Given the description of an element on the screen output the (x, y) to click on. 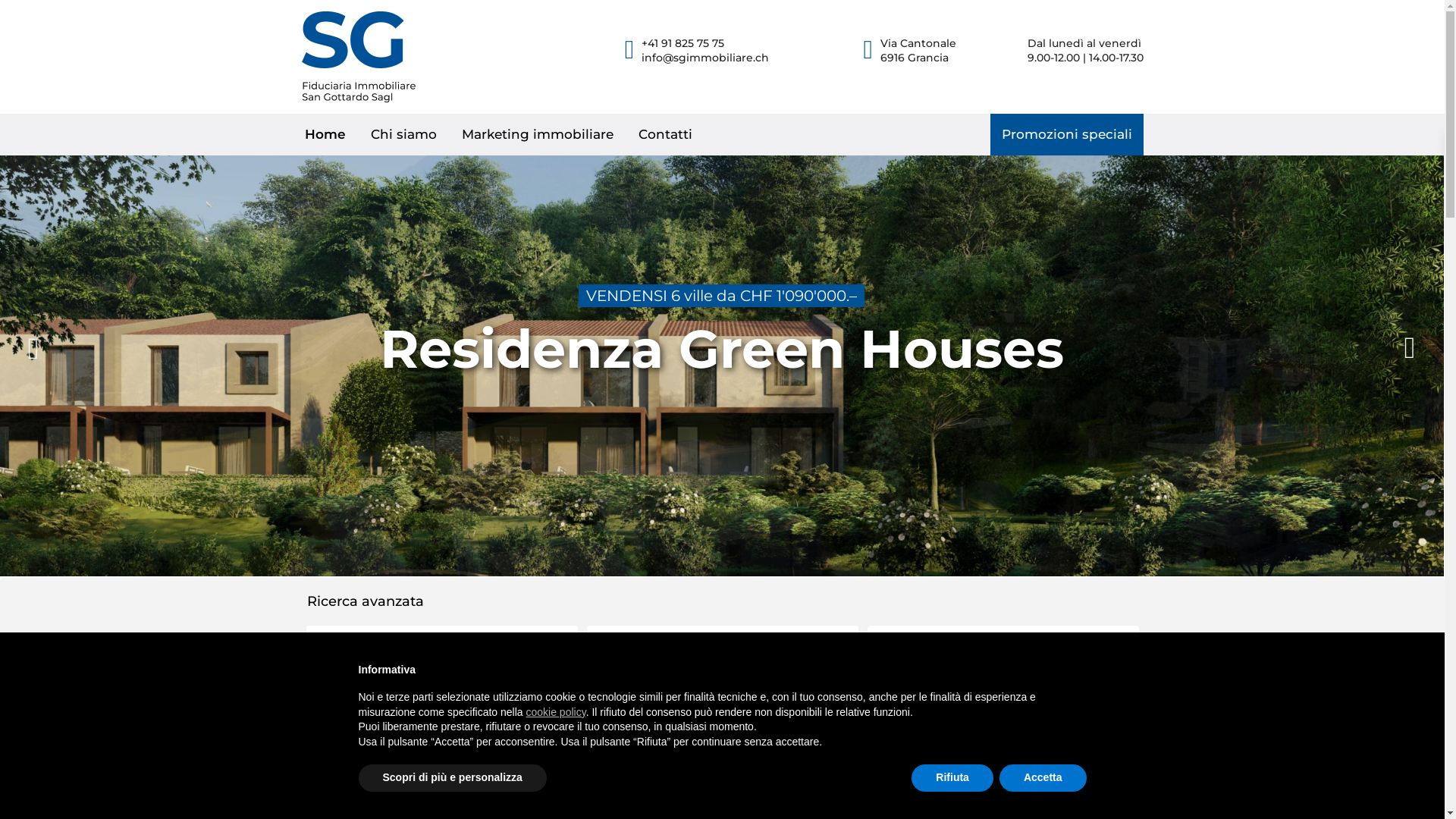
Rifiuta Element type: text (952, 777)
Home Element type: text (325, 134)
Chi siamo Element type: text (403, 134)
Marketing immobiliare Element type: text (537, 134)
Accetta Element type: text (1042, 777)
Promozioni speciali Element type: text (1066, 134)
Contatti Element type: text (665, 134)
cookie policy Element type: text (556, 712)
